Given the description of an element on the screen output the (x, y) to click on. 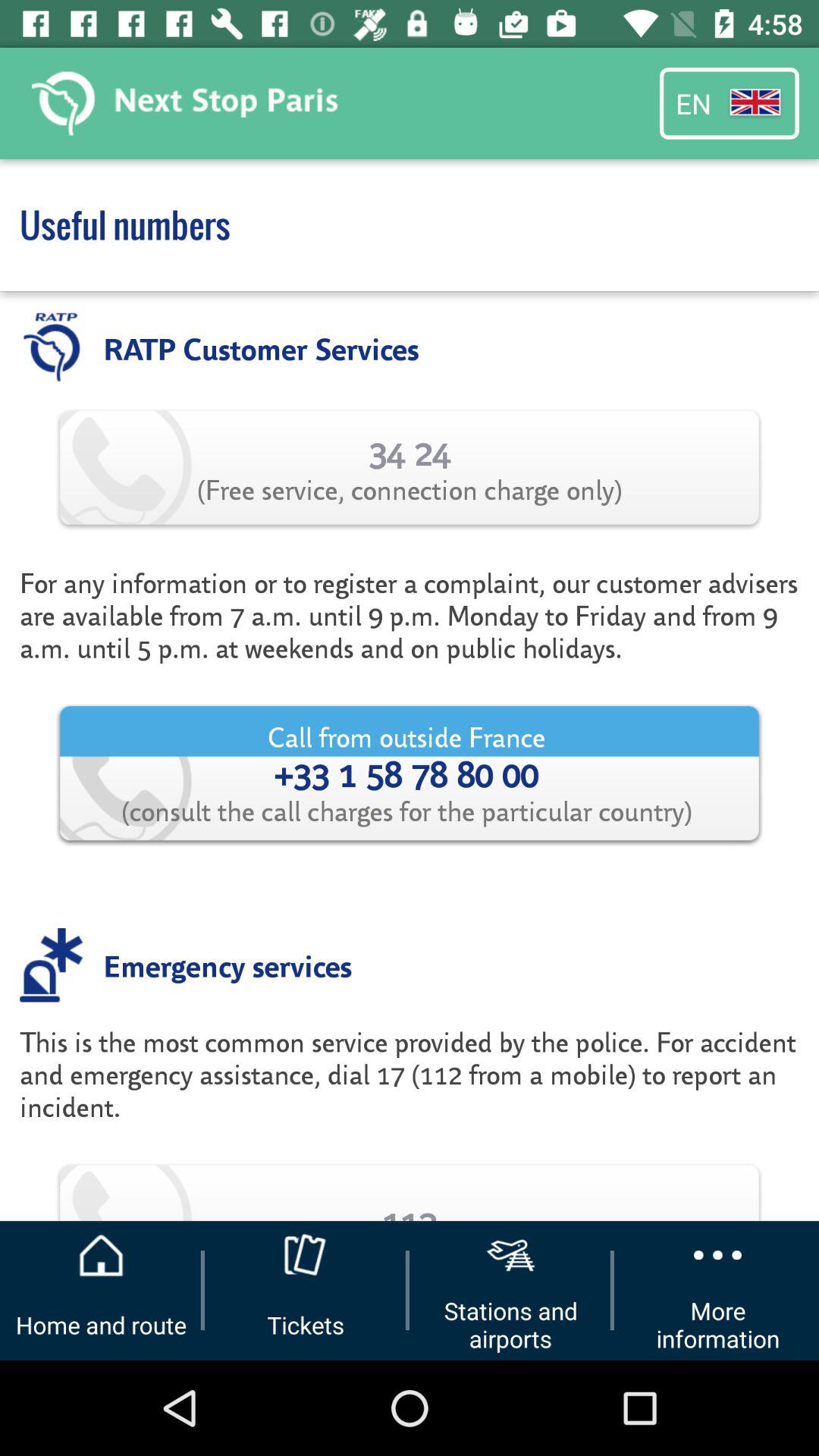
flip to the emergency services (227, 964)
